Given the description of an element on the screen output the (x, y) to click on. 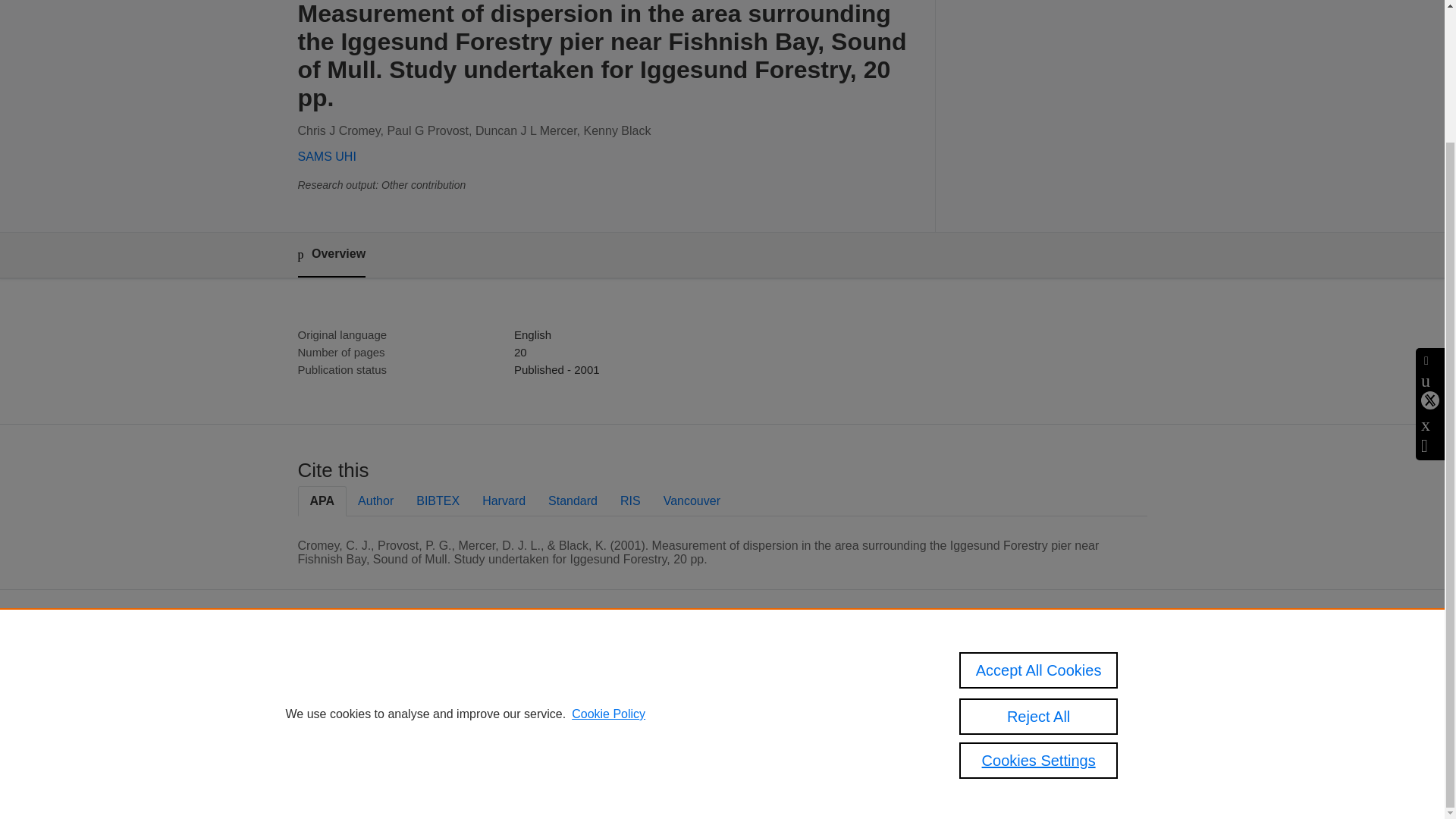
Cookies Settings (591, 761)
Log in to Pure (584, 781)
About web accessibility (1035, 671)
Pure (620, 665)
Elsevier B.V. (764, 685)
Scopus (652, 665)
Cookie Policy (608, 552)
SAMS UHI (326, 155)
Accept All Cookies (1038, 508)
use of cookies (642, 740)
